Given the description of an element on the screen output the (x, y) to click on. 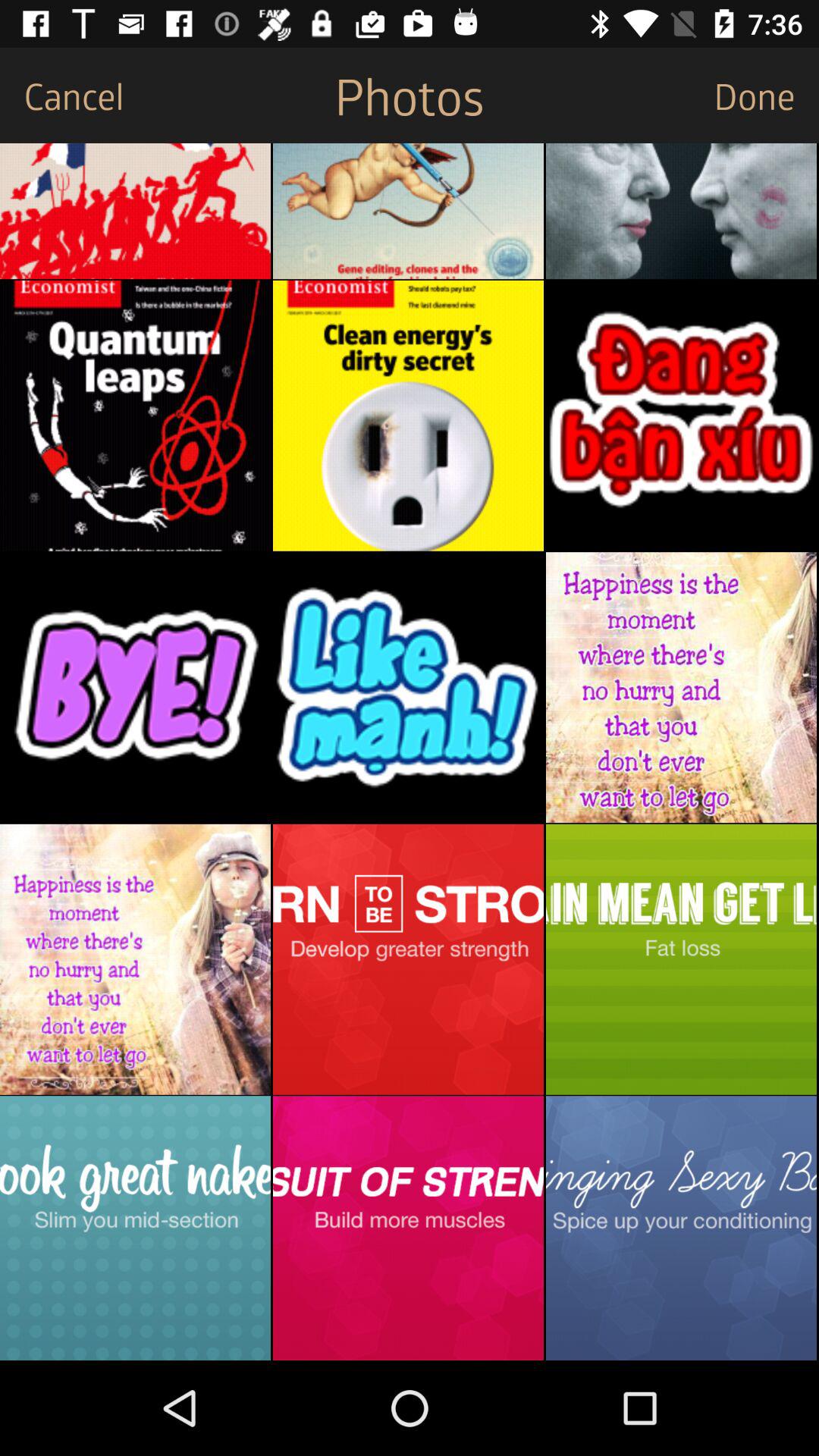
choose (408, 211)
